Given the description of an element on the screen output the (x, y) to click on. 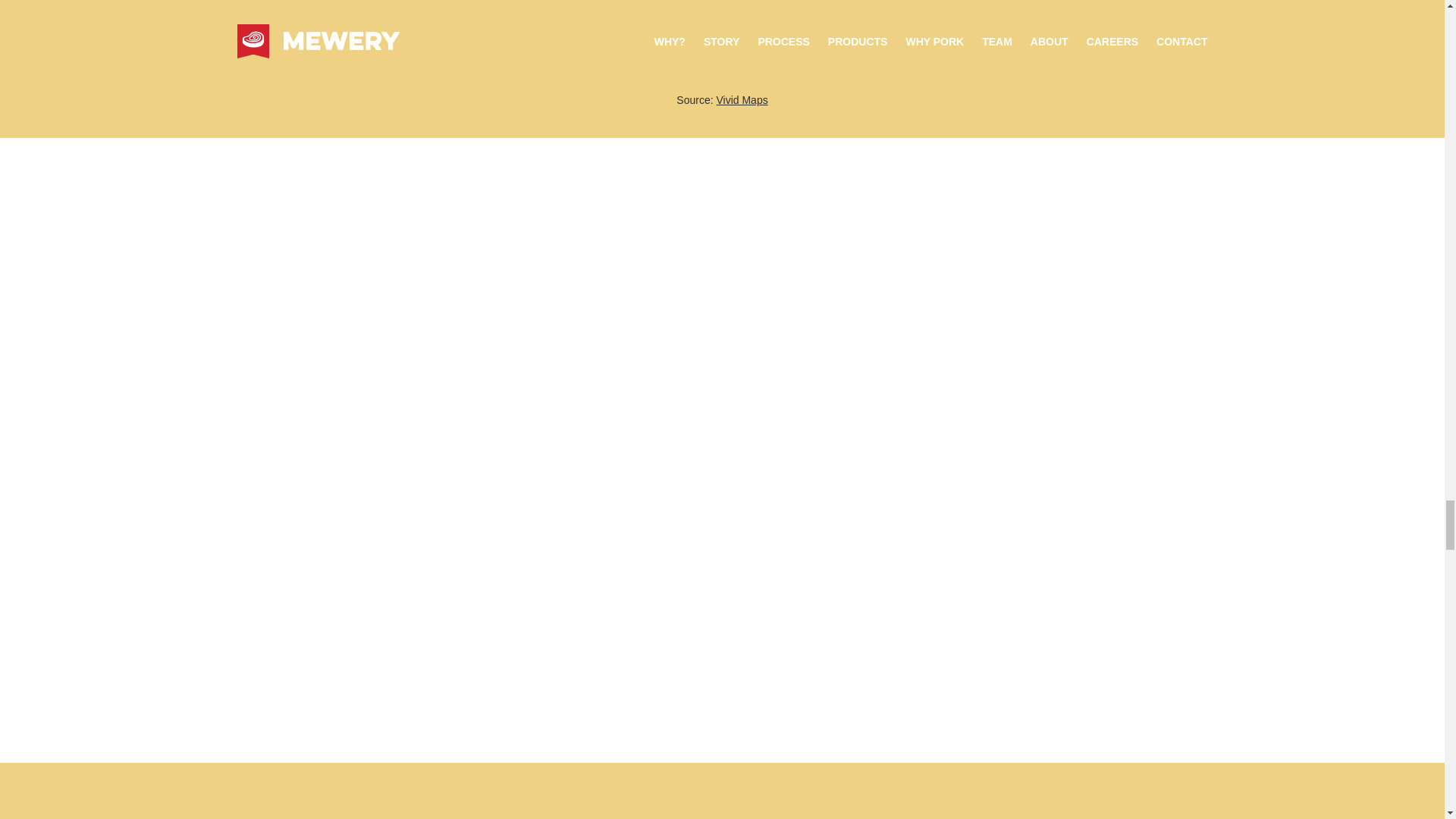
Vivid Maps (741, 100)
